Given the description of an element on the screen output the (x, y) to click on. 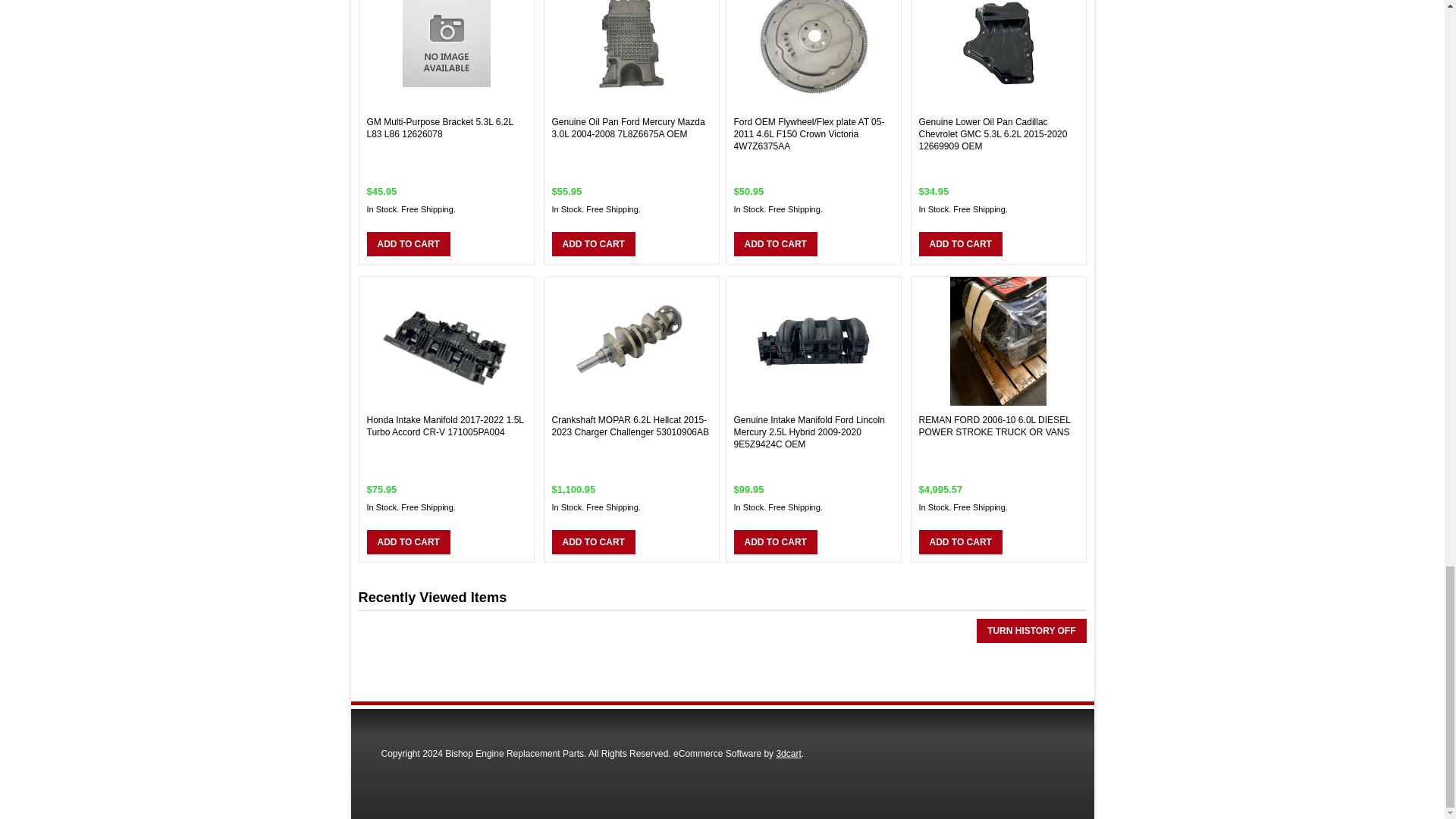
Add To Cart (407, 243)
Add To Cart (592, 541)
Turn History Off (1031, 630)
Add To Cart (960, 243)
Add To Cart (774, 541)
Add To Cart (407, 541)
Add To Cart (774, 243)
Add To Cart (960, 541)
Add To Cart (592, 243)
